Given the description of an element on the screen output the (x, y) to click on. 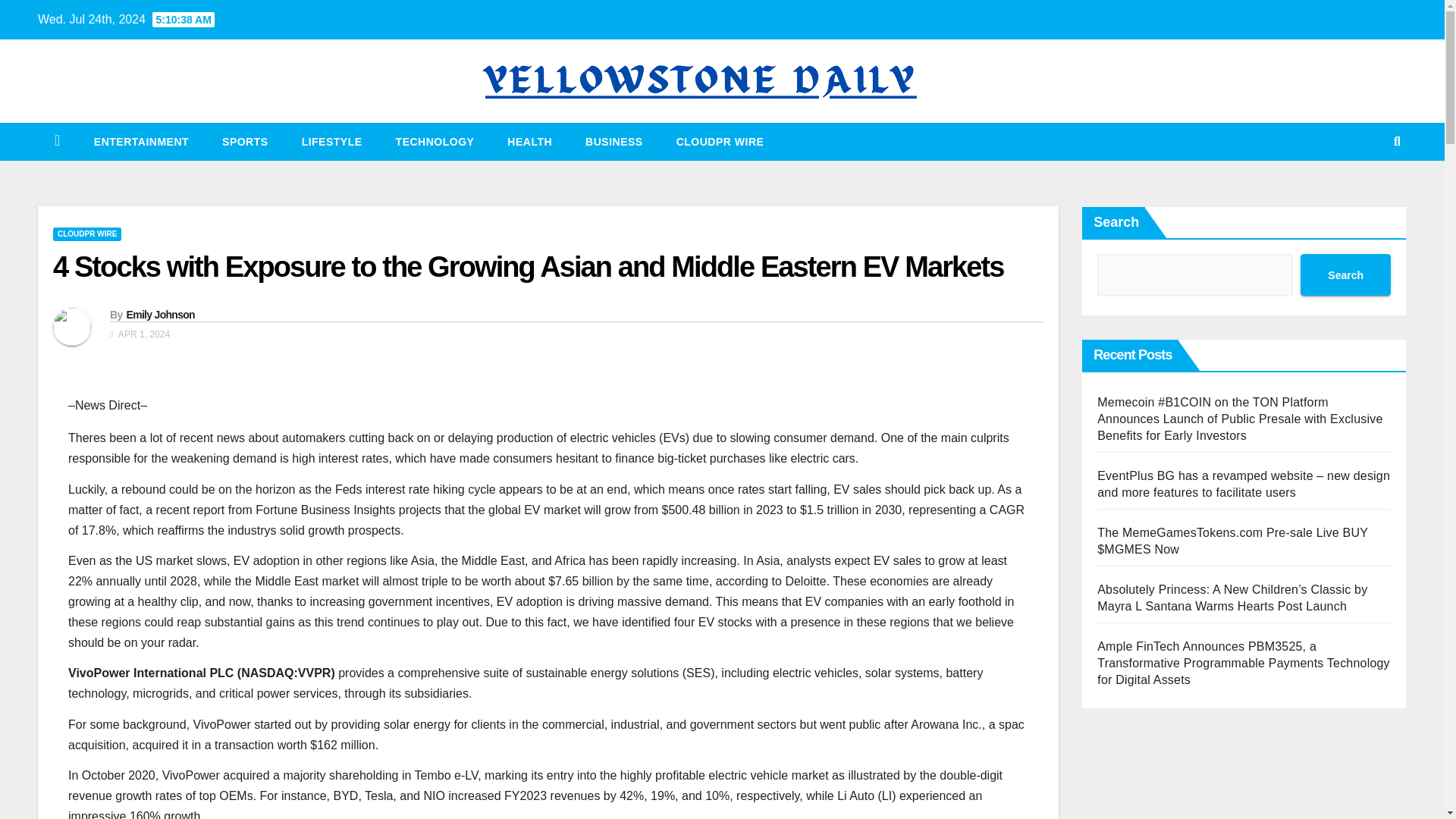
Sports (245, 141)
Business (614, 141)
Lifestyle (331, 141)
ENTERTAINMENT (141, 141)
Entertainment (141, 141)
HEALTH (529, 141)
CLOUDPR WIRE (86, 233)
Emily Johnson (159, 314)
Health (529, 141)
CLOUDPR WIRE (719, 141)
BUSINESS (614, 141)
Technology (435, 141)
TECHNOLOGY (435, 141)
